Given the description of an element on the screen output the (x, y) to click on. 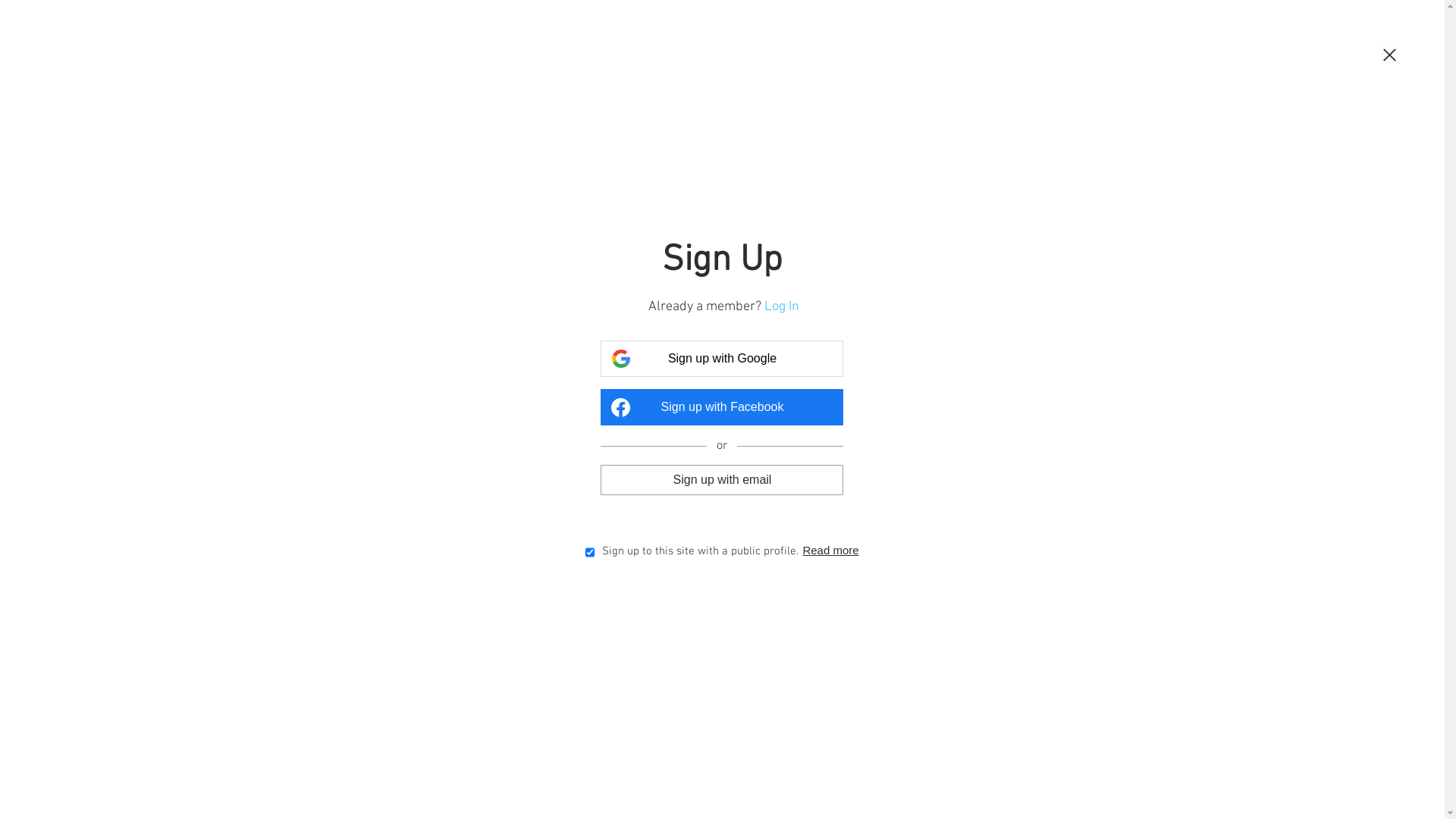
Sign up with Google Element type: text (721, 358)
Log In Element type: text (784, 306)
Sign up with Facebook Element type: text (721, 407)
Read more Element type: text (830, 551)
Sign up with email Element type: text (721, 479)
